Given the description of an element on the screen output the (x, y) to click on. 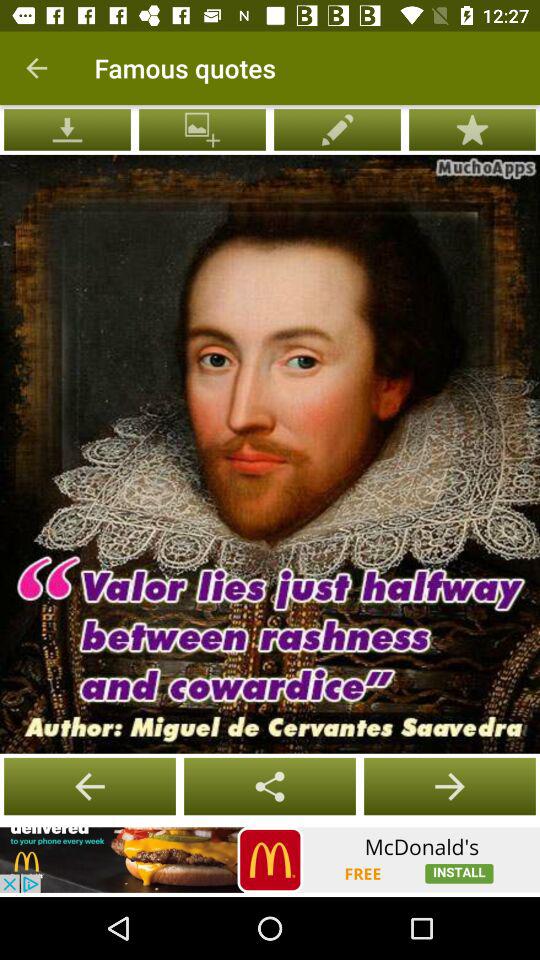
connect to site (270, 859)
